Given the description of an element on the screen output the (x, y) to click on. 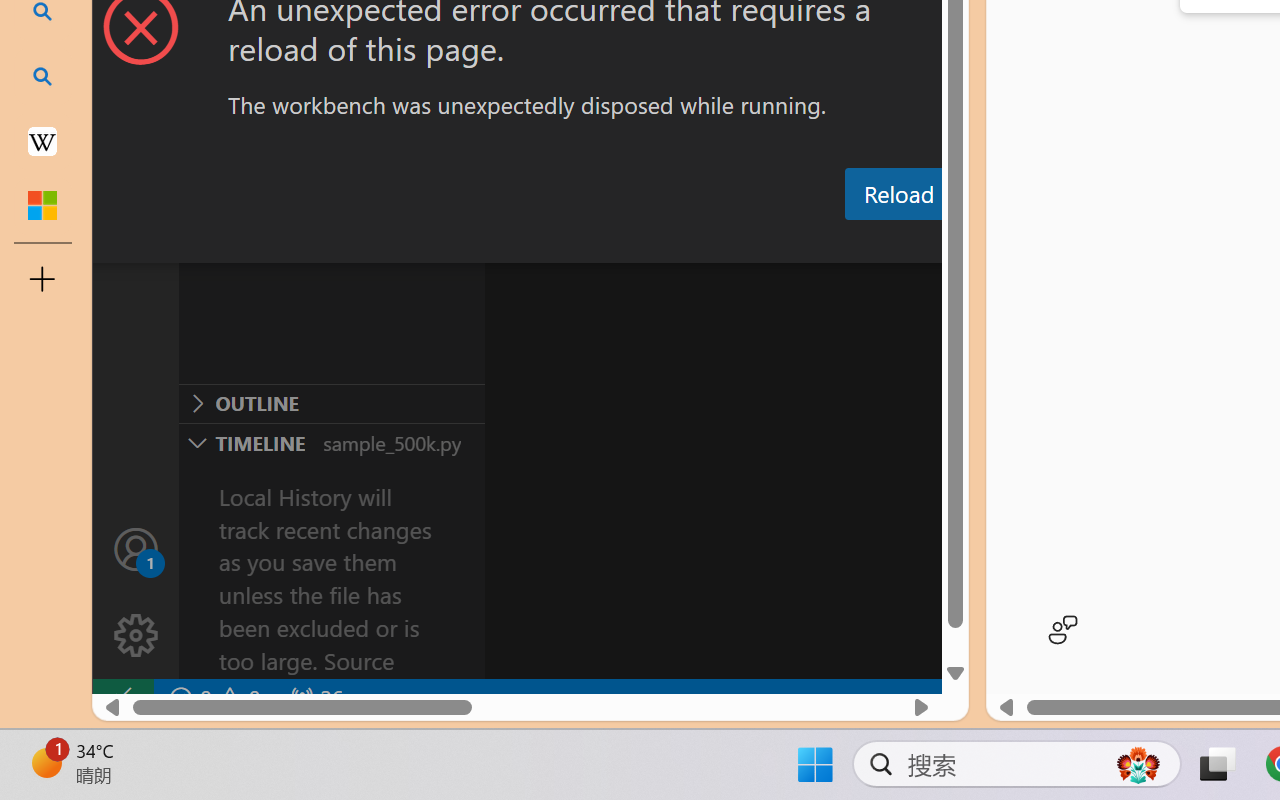
Timeline Section (331, 442)
Output (Ctrl+Shift+U) (696, 243)
Earth - Wikipedia (42, 140)
Accounts - Sign in requested (135, 548)
Outline Section (331, 403)
Terminal (Ctrl+`) (1021, 243)
Manage (135, 591)
Debug Console (Ctrl+Shift+Y) (854, 243)
Reload (898, 193)
No Problems (212, 698)
